Given the description of an element on the screen output the (x, y) to click on. 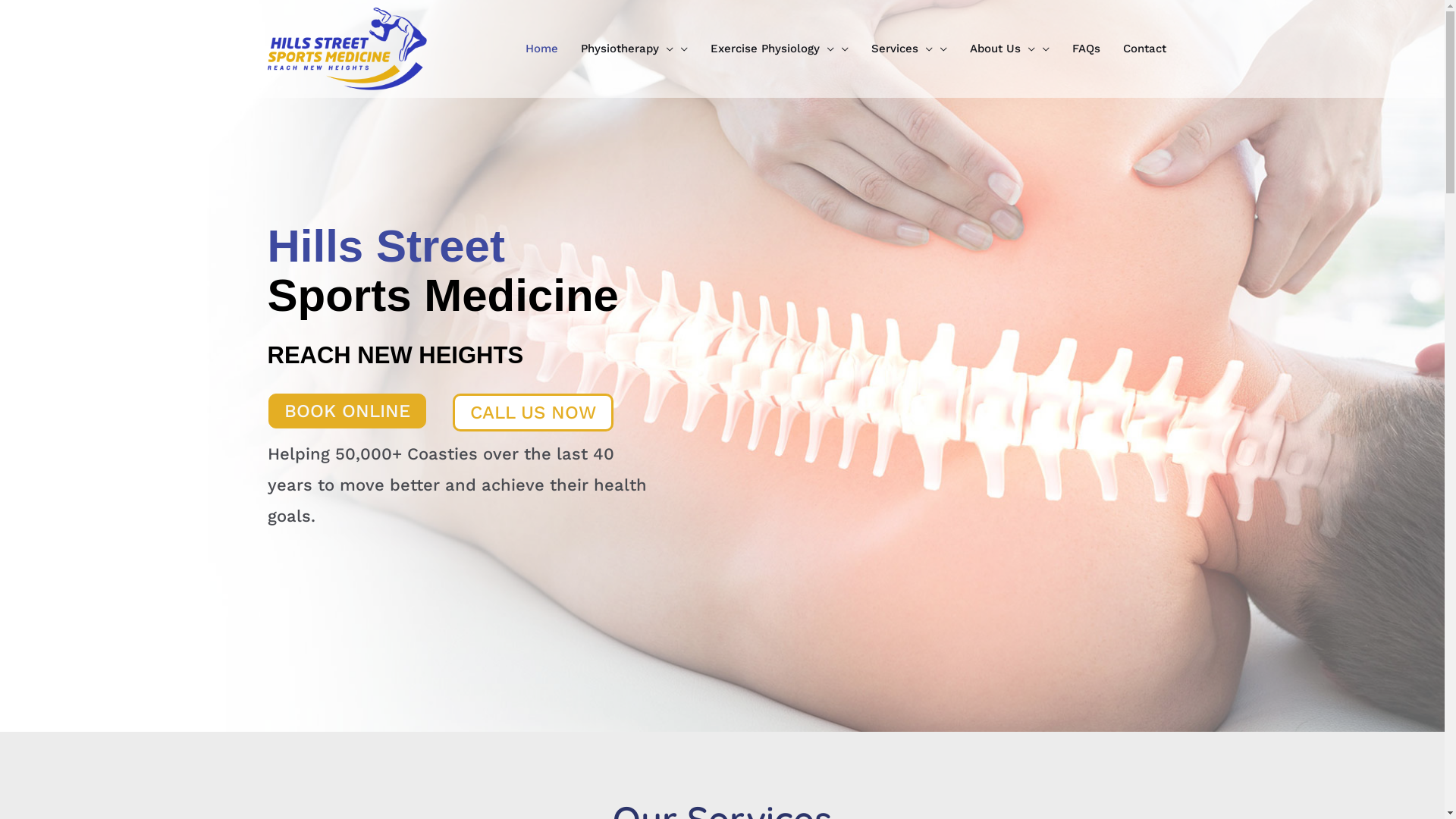
FAQs Element type: text (1085, 48)
Contact Element type: text (1144, 48)
About Us Element type: text (1009, 48)
Exercise Physiology Element type: text (779, 48)
BOOK ONLINE Element type: text (347, 410)
Home Element type: text (541, 48)
Services Element type: text (908, 48)
CALL US NOW Element type: text (531, 412)
Physiotherapy Element type: text (633, 48)
